Given the description of an element on the screen output the (x, y) to click on. 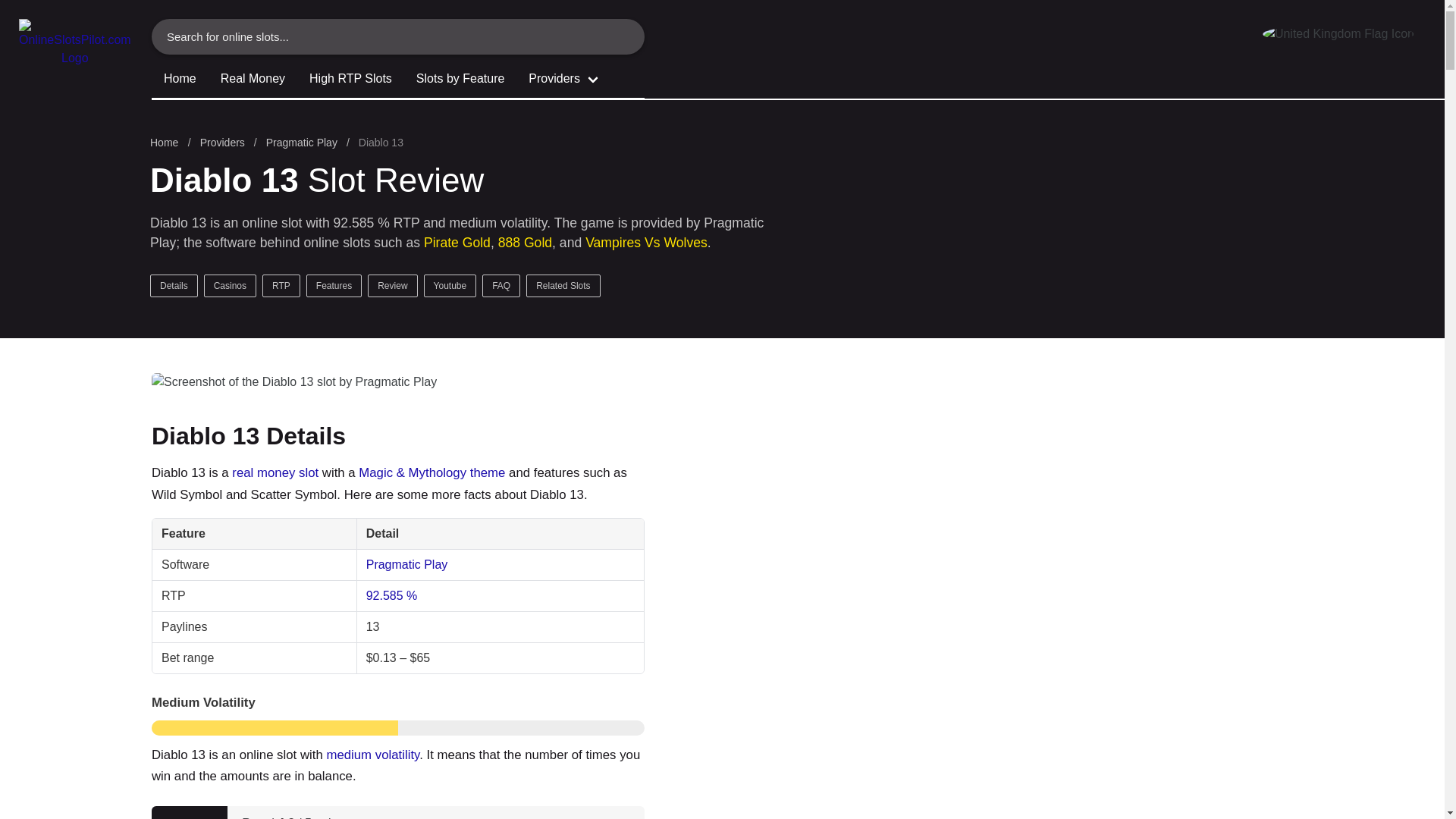
Pirate Gold (456, 242)
High RTP Slots (350, 80)
Home (166, 142)
Vampires Vs Wolves (646, 242)
real money slot (274, 472)
Slots by Feature (460, 80)
RTP (281, 285)
Providers (221, 142)
Casinos (230, 285)
Youtube (450, 285)
